Given the description of an element on the screen output the (x, y) to click on. 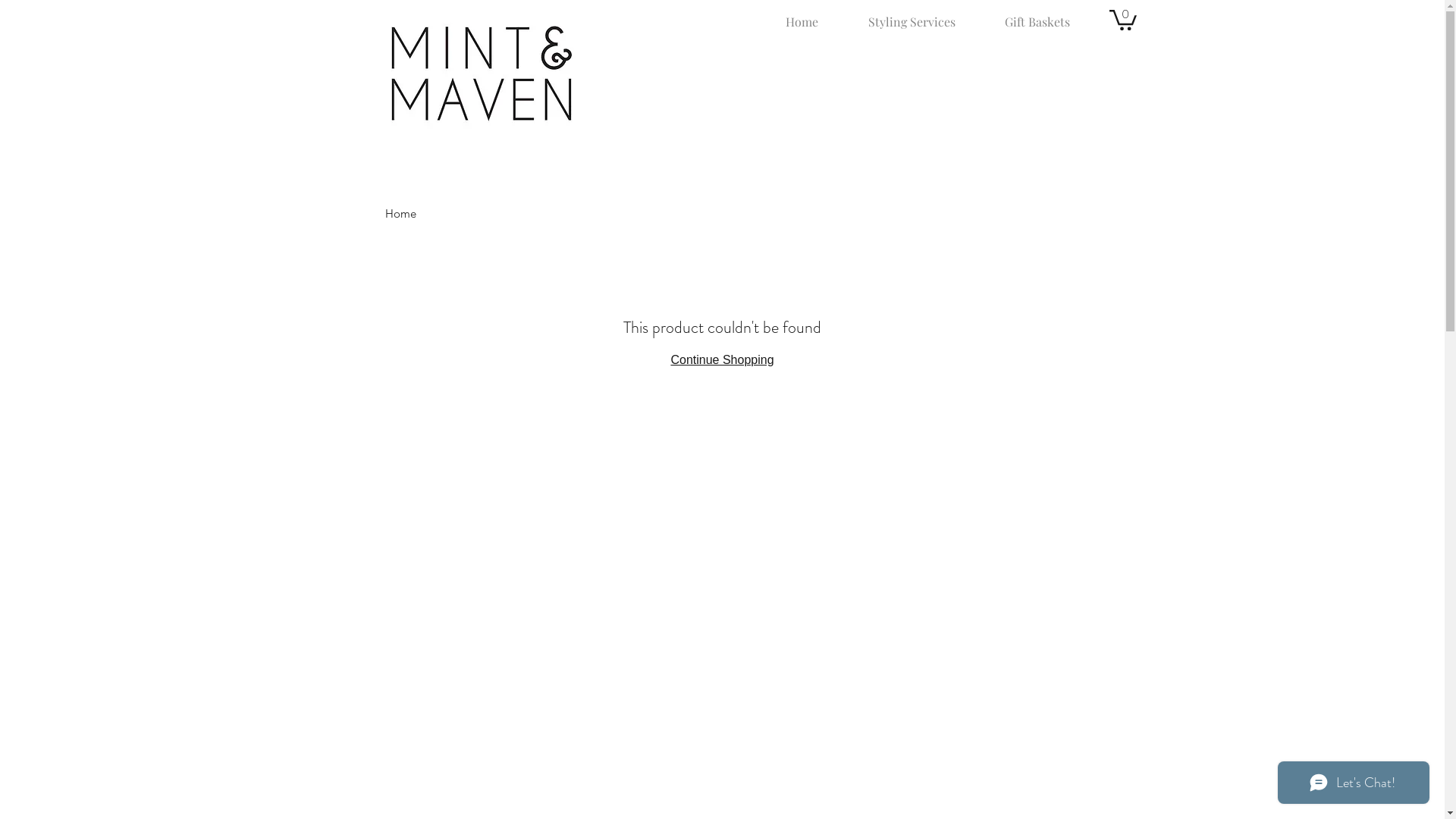
Continue Shopping Element type: text (721, 359)
Gift Baskets Element type: text (1036, 15)
0 Element type: text (1121, 18)
Home Element type: text (800, 15)
Styling Services Element type: text (911, 15)
Home Element type: text (400, 213)
